Given the description of an element on the screen output the (x, y) to click on. 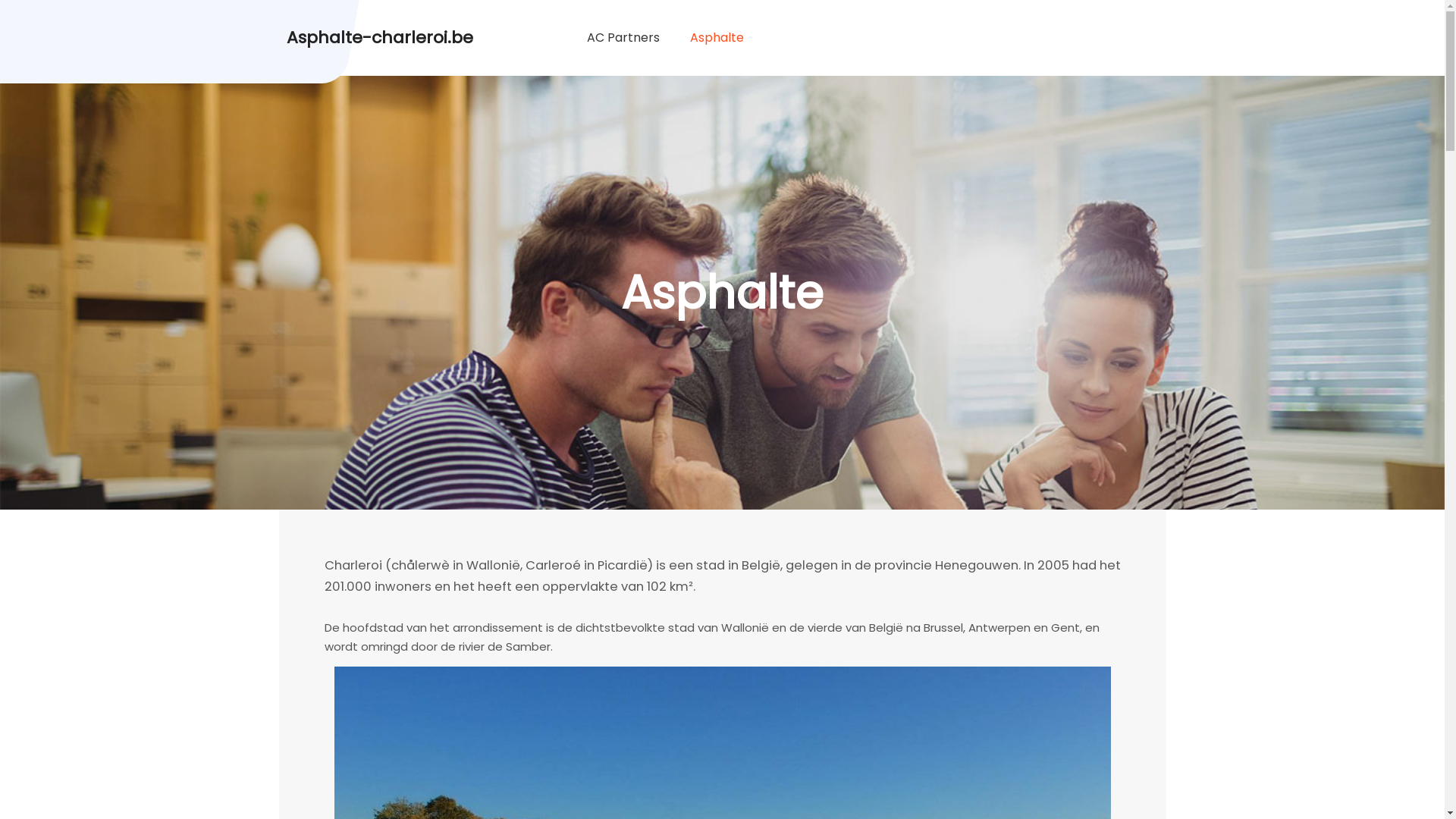
Asphalte-charleroi.be Element type: text (379, 34)
AC Partners Element type: text (622, 37)
Asphalte Element type: text (716, 37)
